Given the description of an element on the screen output the (x, y) to click on. 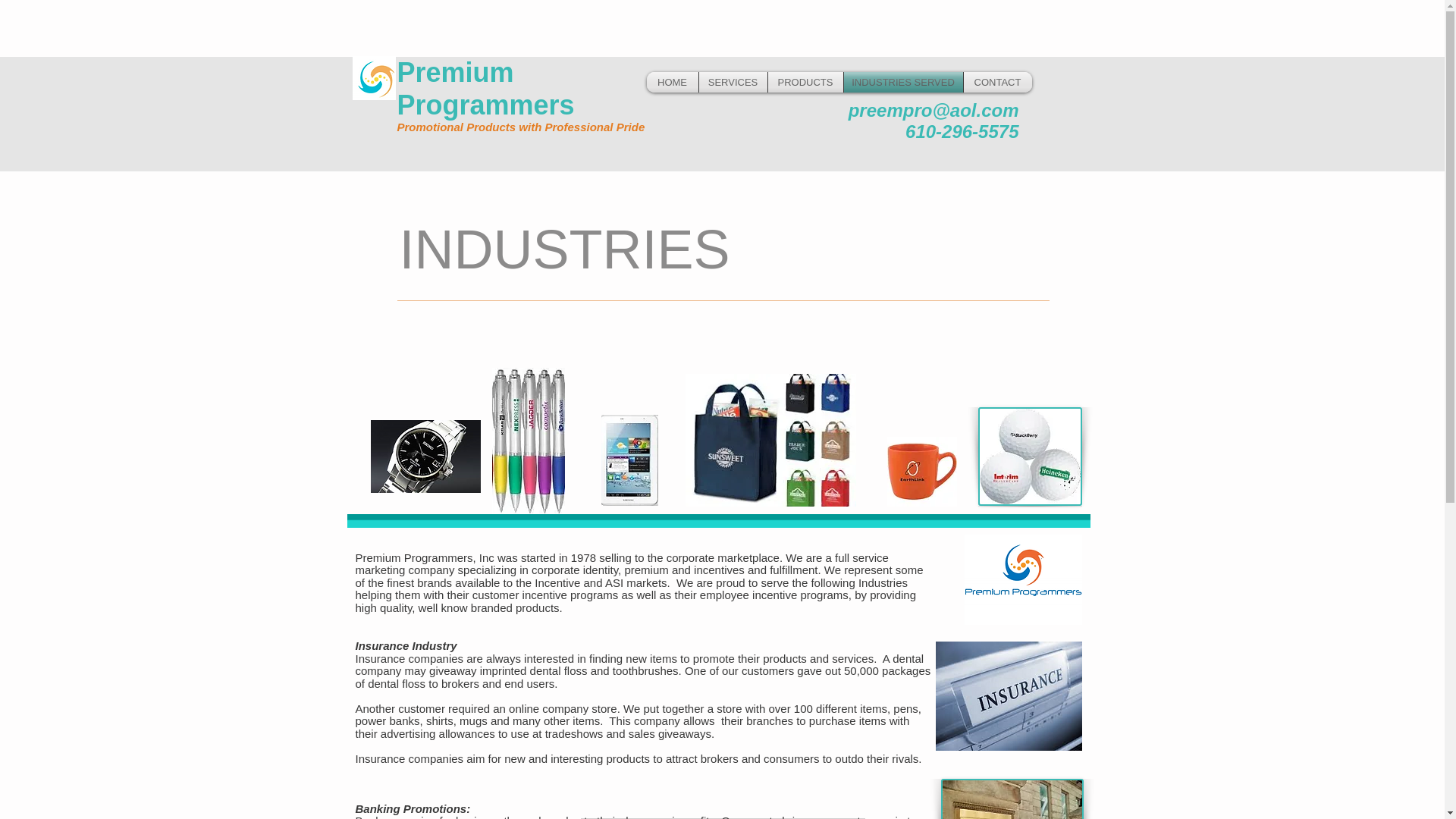
HOME (671, 82)
totes.jpg (770, 439)
Premium Programmers.png 2015-2-5-13:25:45 (374, 77)
CONTACT (996, 82)
SERVICES (732, 82)
PRODUCTS (805, 82)
INDUSTRIES SERVED (902, 82)
mug.jpg (921, 471)
Premium (455, 71)
